Given the description of an element on the screen output the (x, y) to click on. 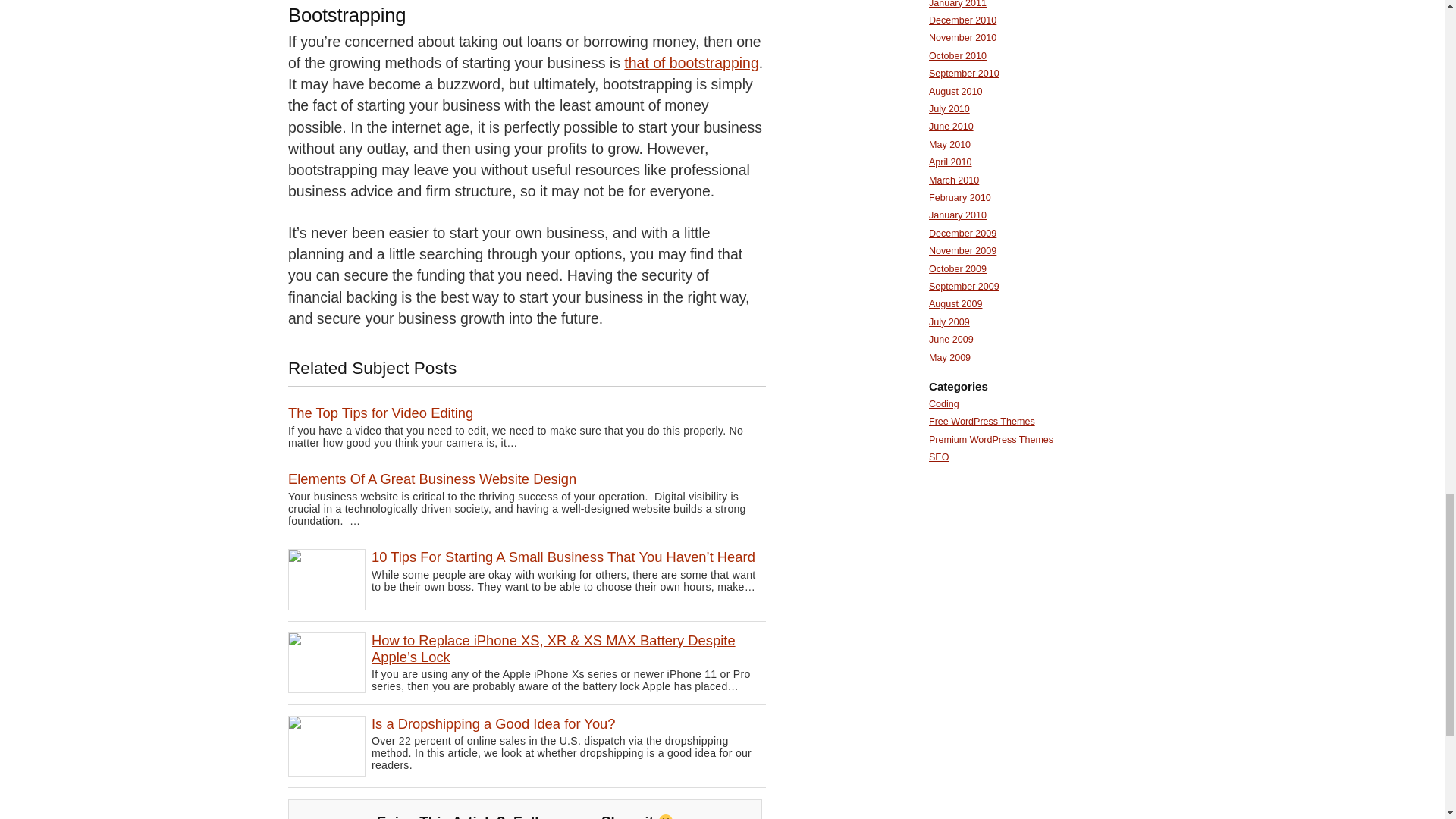
that of bootstrapping (691, 62)
Elements Of A Great Business Website Design (432, 478)
The Top Tips for Video Editing (380, 412)
Is a Dropshipping a Good Idea for You? (493, 723)
